Given the description of an element on the screen output the (x, y) to click on. 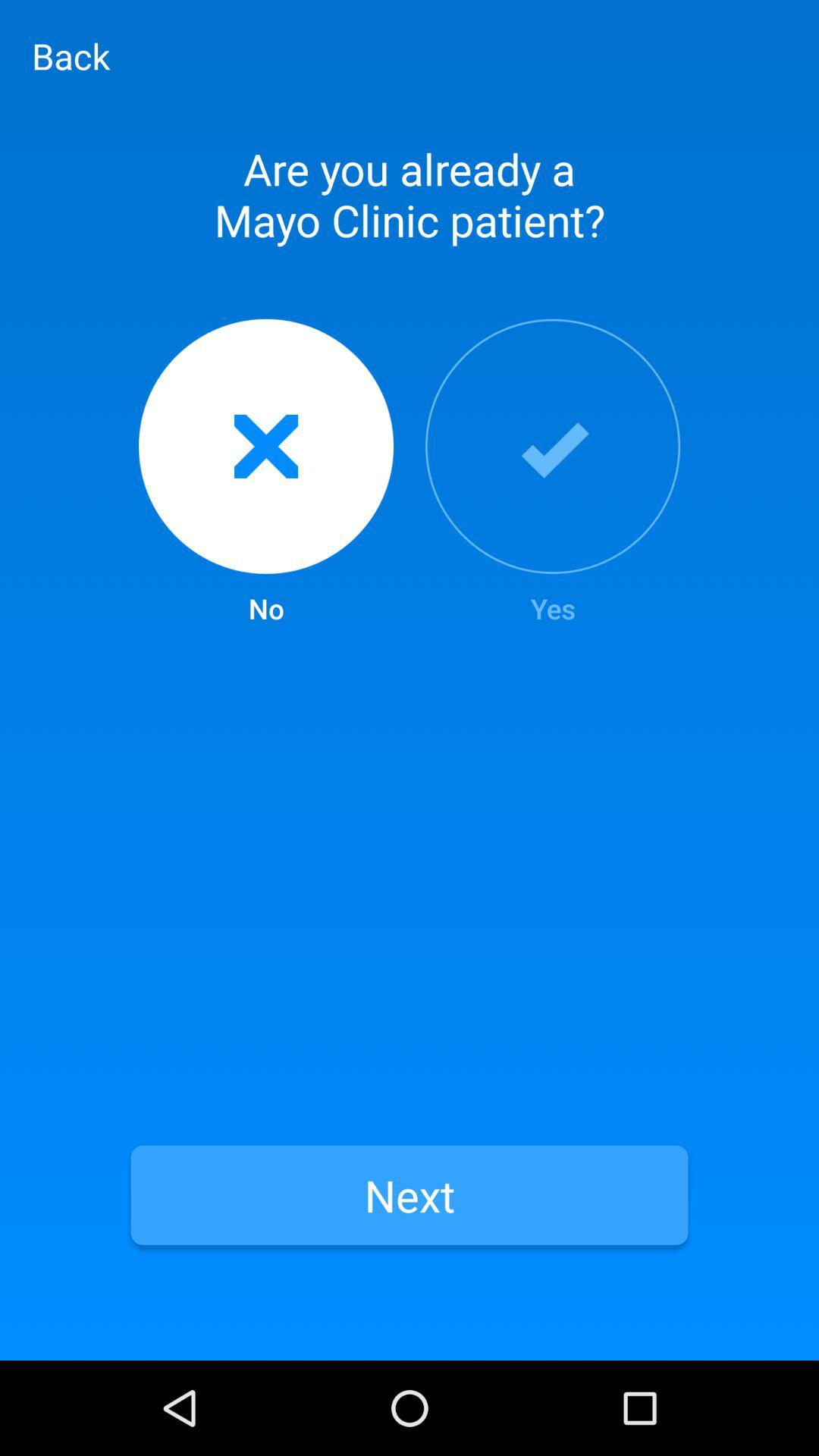
open the item above next (265, 473)
